Given the description of an element on the screen output the (x, y) to click on. 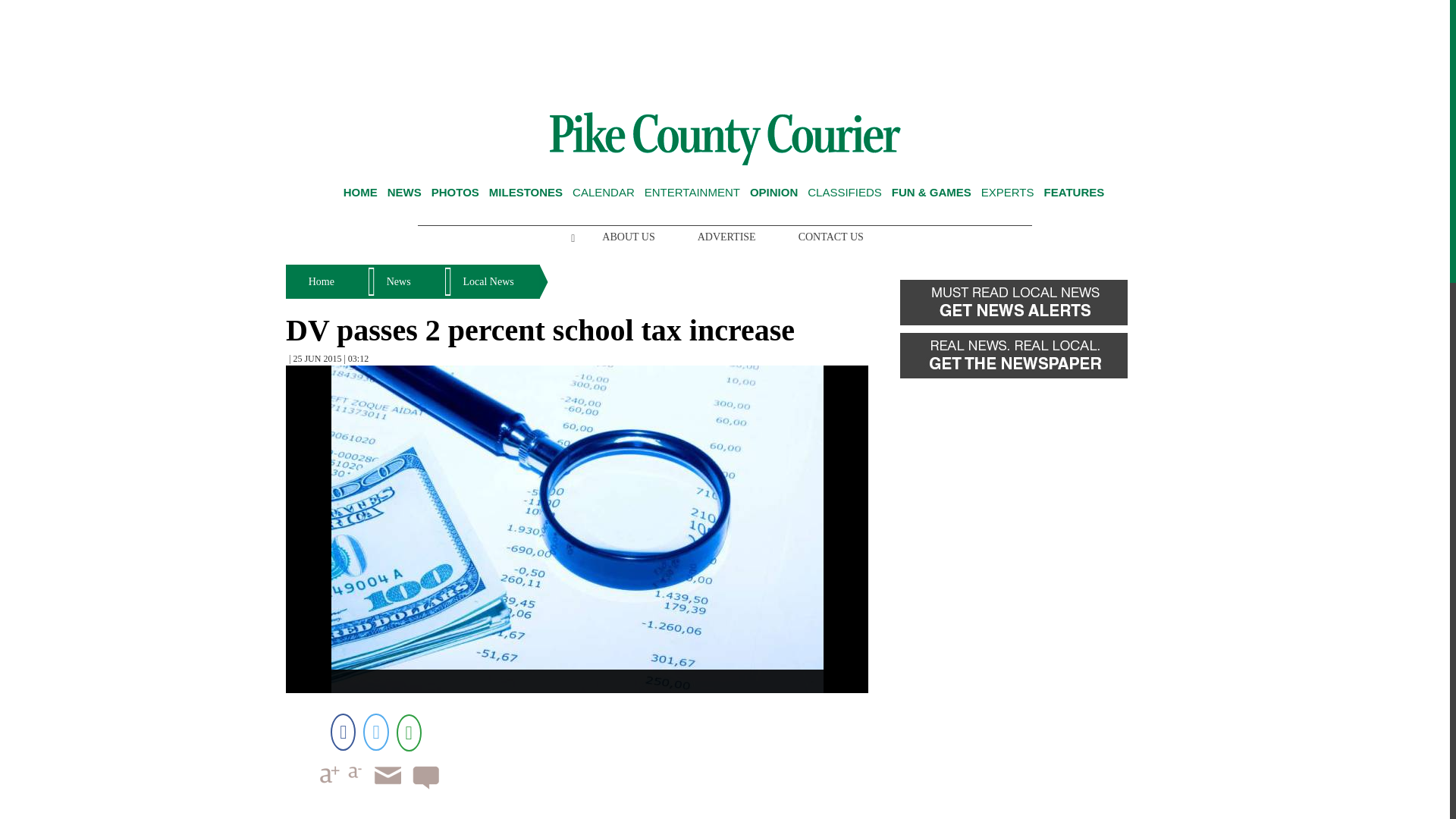
OPINION (773, 192)
HOME (360, 192)
3rd party ad content (724, 49)
CLASSIFIEDS (845, 192)
ENTERTAINMENT (692, 192)
PHOTOS (454, 192)
FEATURES (1074, 192)
MILESTONES (525, 192)
CALENDAR (603, 192)
EXPERTS (1007, 192)
NEWS (404, 192)
